Given the description of an element on the screen output the (x, y) to click on. 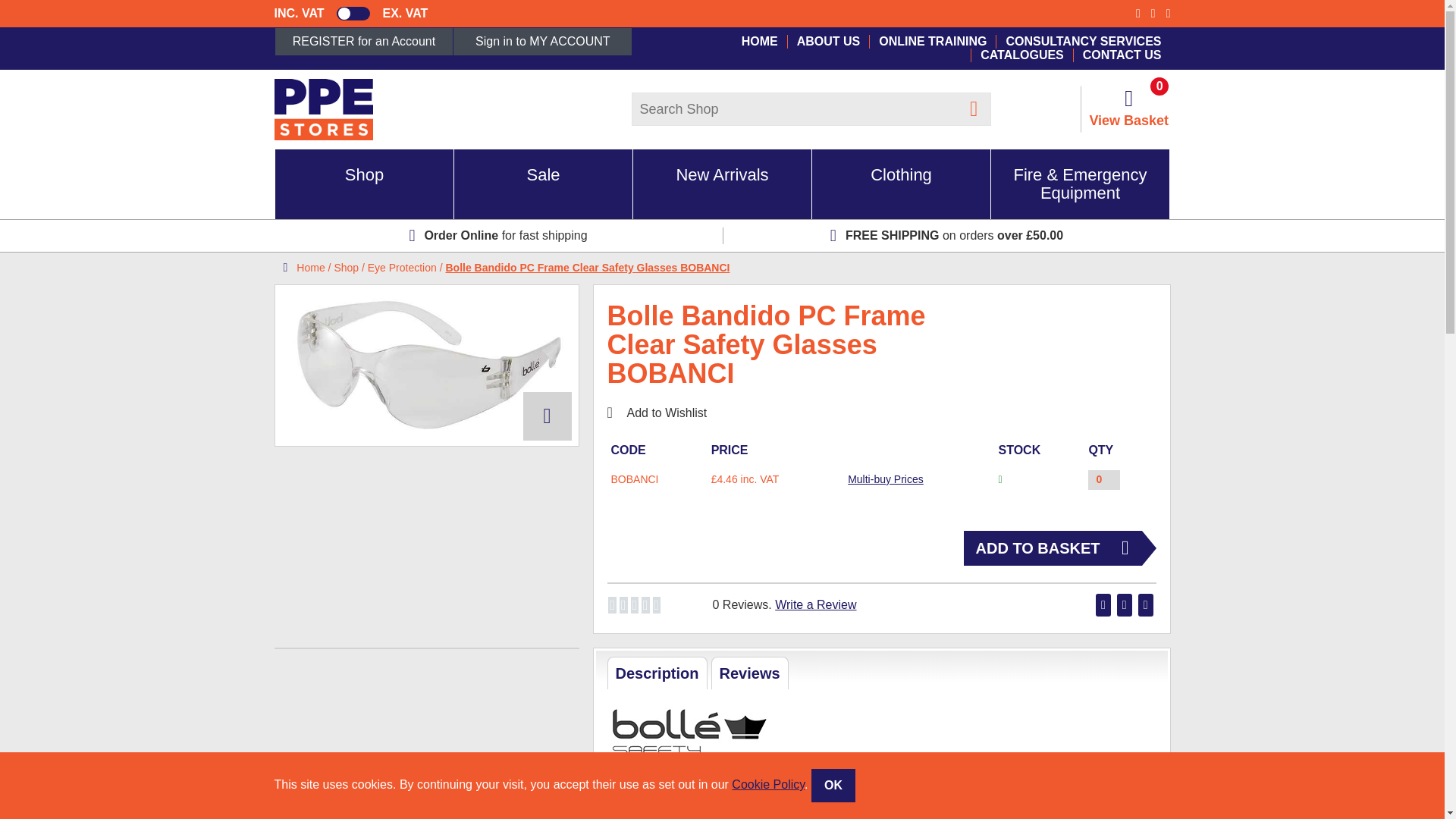
Instagram (1168, 13)
Clothing (901, 184)
New Arrivals (721, 184)
Facebook (1137, 13)
ABOUT US (828, 41)
INC. VAT (299, 13)
0 (1103, 479)
CONTACT US (1122, 54)
Shop (363, 184)
HOME (759, 41)
CATALOGUES (1021, 54)
REGISTER for an Account (363, 41)
Sign in to MY ACCOUNT (541, 41)
Twitter (1153, 13)
GO (974, 109)
